Given the description of an element on the screen output the (x, y) to click on. 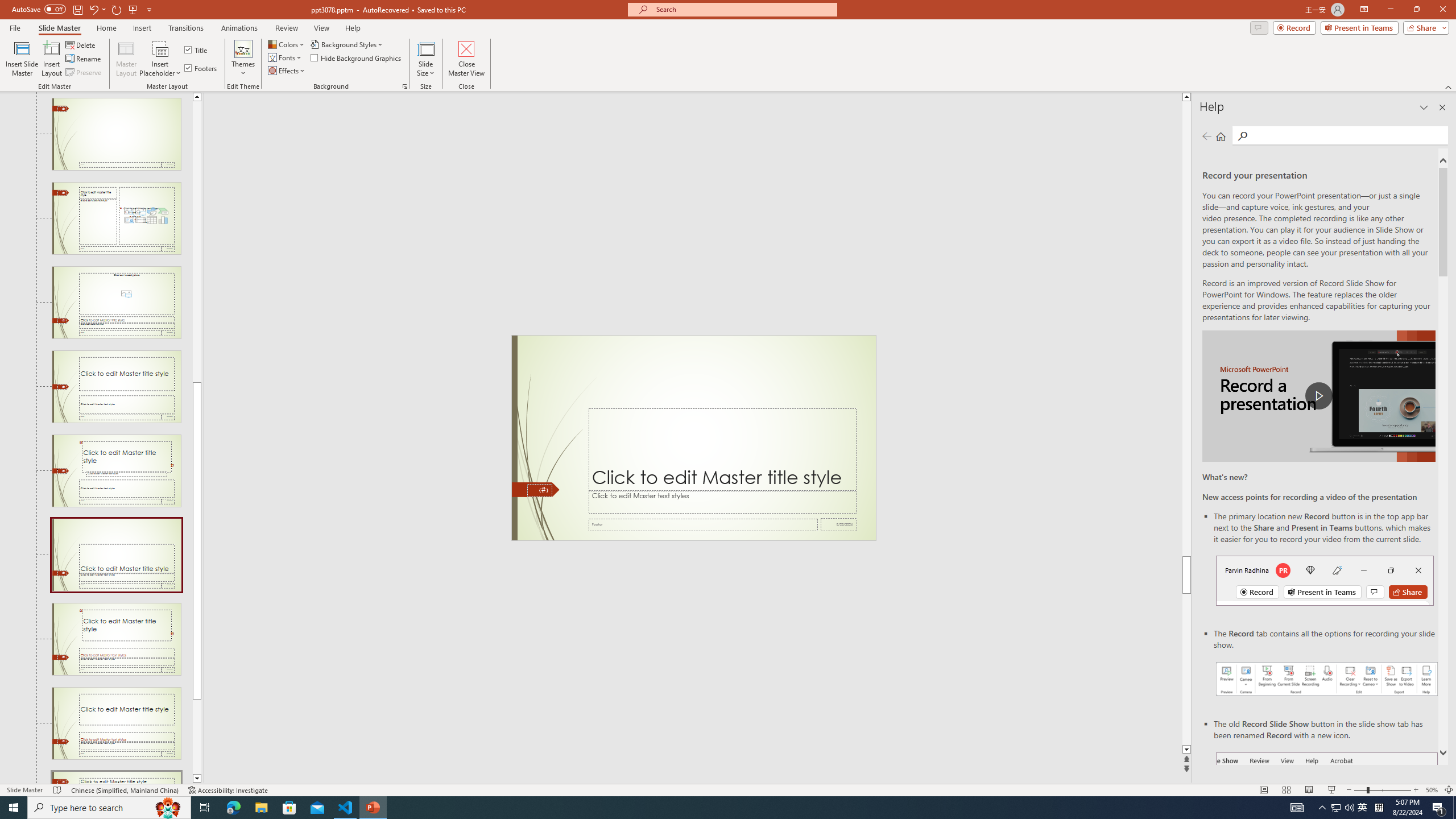
Preserve (84, 72)
Format Background... (404, 85)
Zoom 50% (1431, 790)
Slide Quote Name Card Layout: used by no slides (116, 638)
Effects (287, 69)
Master Layout... (126, 58)
